Given the description of an element on the screen output the (x, y) to click on. 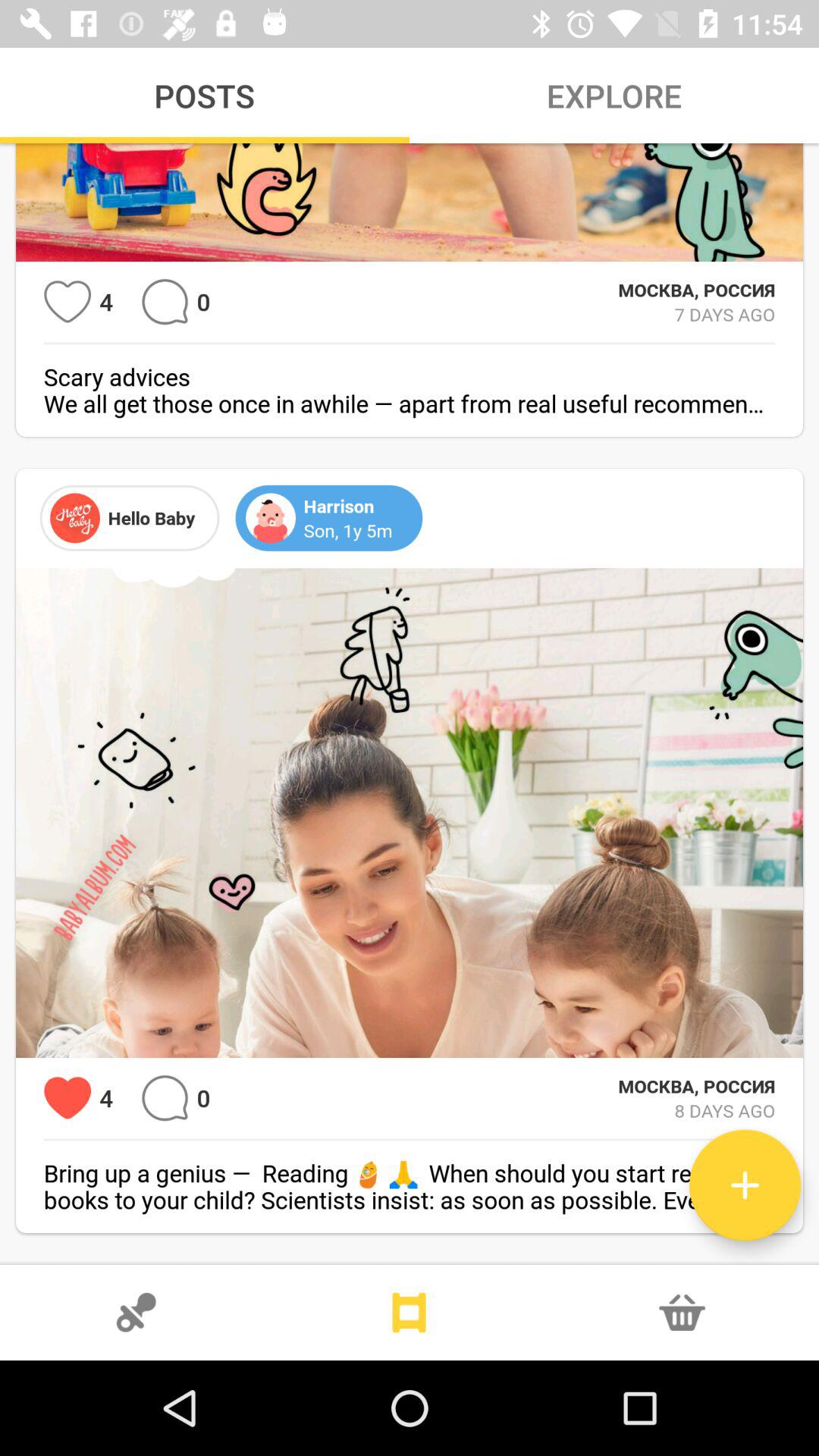
heart post (67, 301)
